Given the description of an element on the screen output the (x, y) to click on. 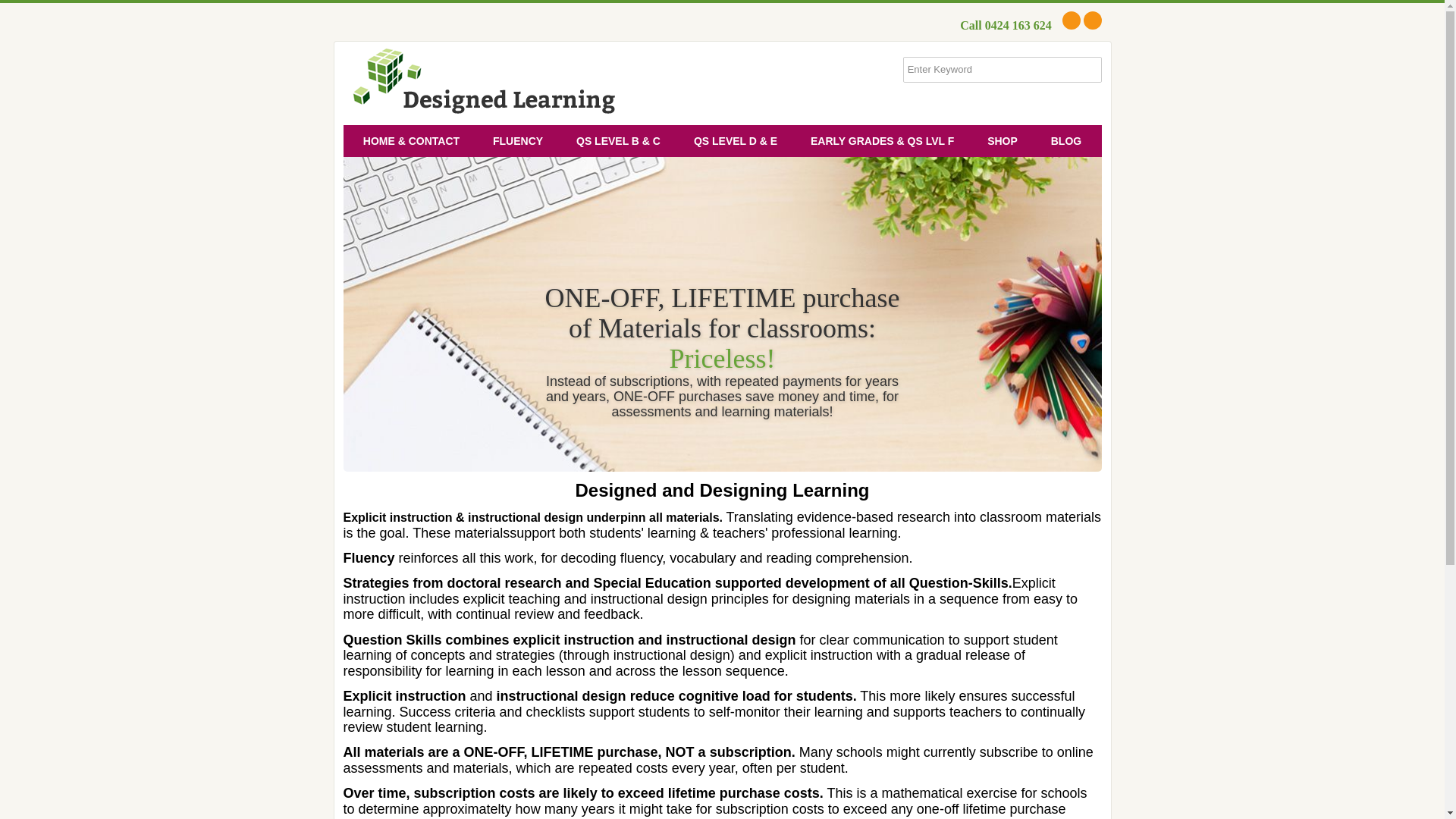
FLUENCY (517, 141)
Call 0424 163 624 (1008, 25)
Enter Keyword (987, 69)
BLOG (1065, 141)
Call 0424 163 624 (1008, 25)
SHOP (1002, 141)
